Given the description of an element on the screen output the (x, y) to click on. 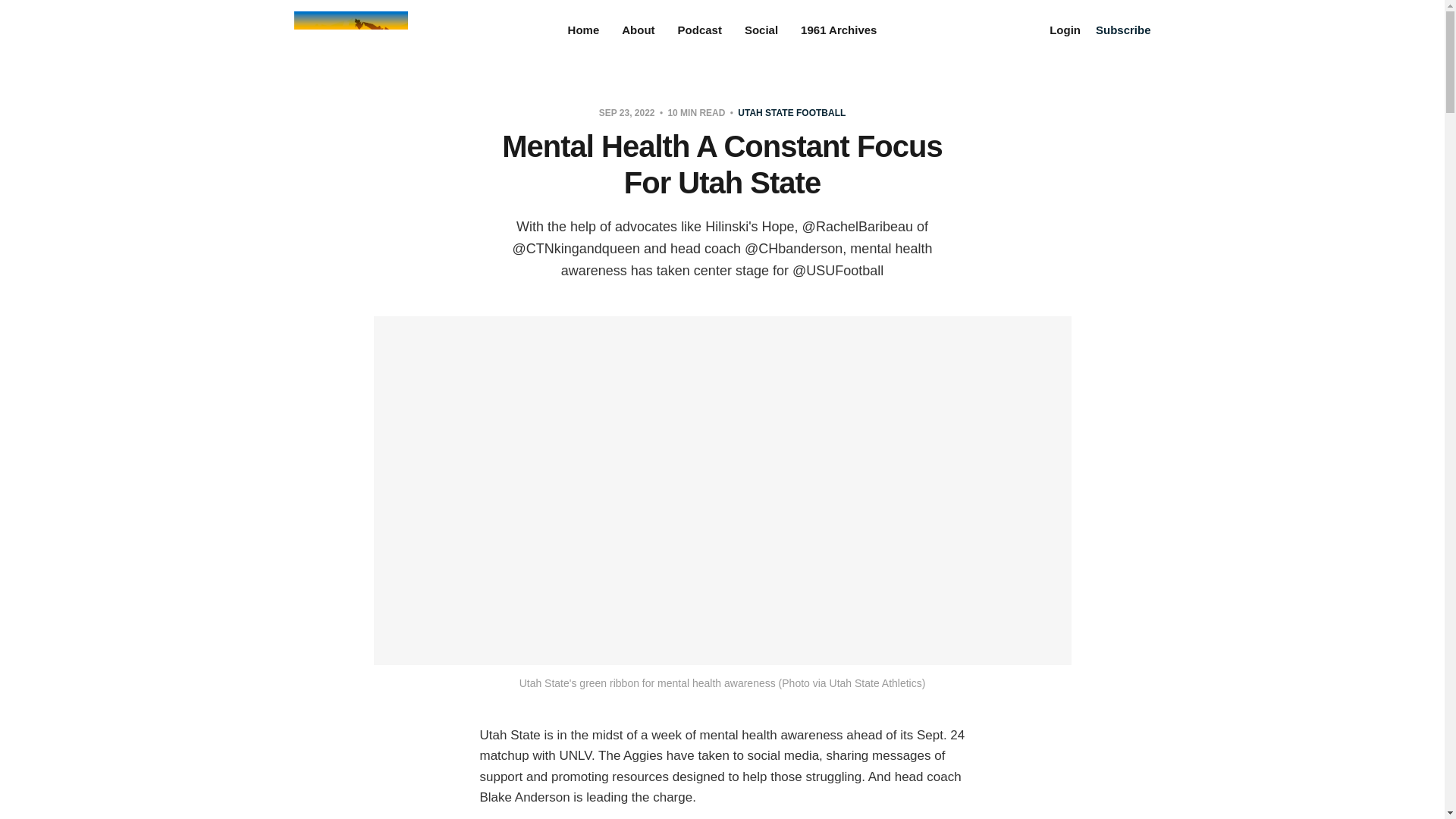
1961 Archives (838, 30)
About (637, 30)
Login (1064, 30)
Social (760, 30)
UTAH STATE FOOTBALL (791, 112)
Podcast (700, 30)
Subscribe (1123, 30)
Home (583, 30)
